Given the description of an element on the screen output the (x, y) to click on. 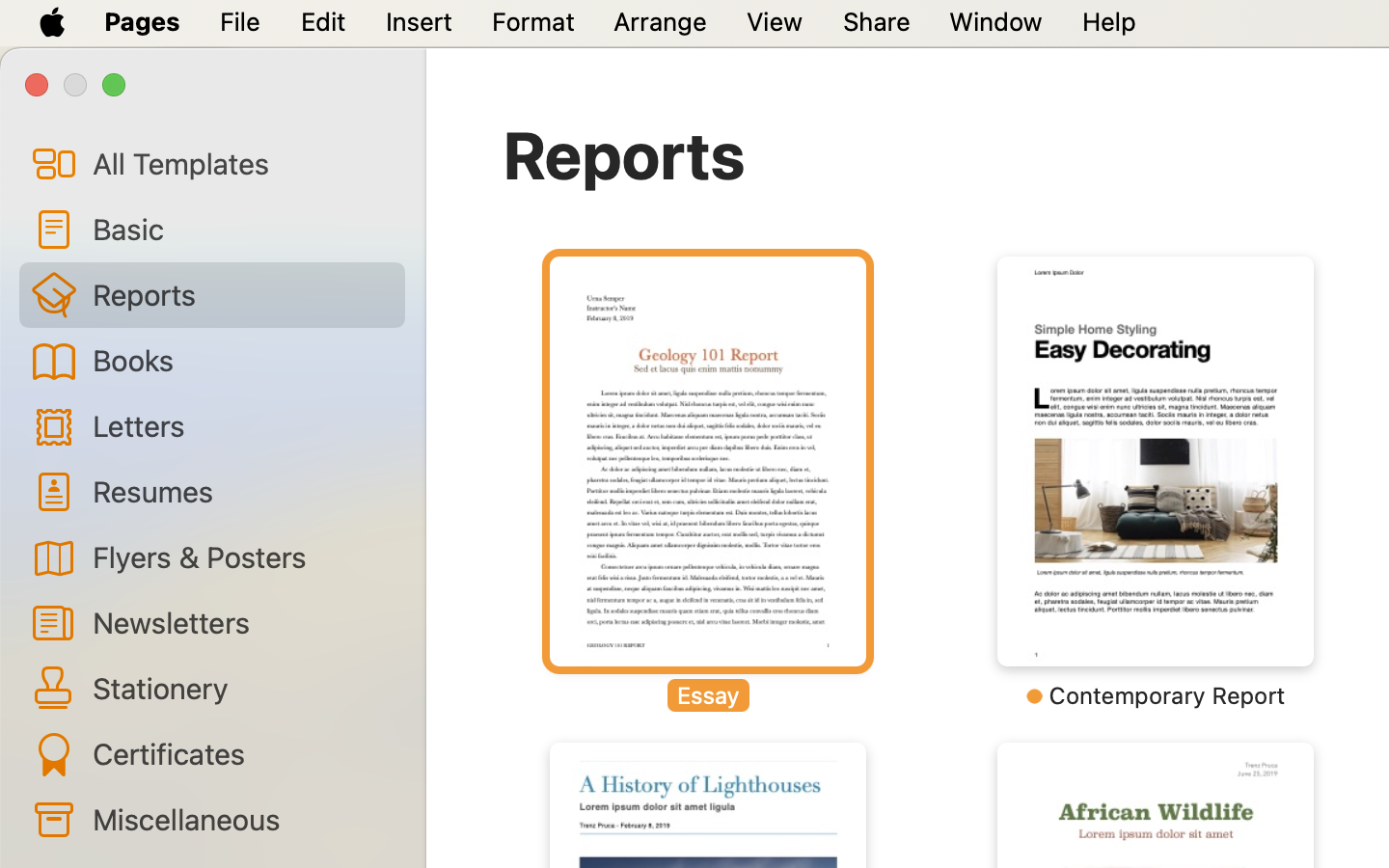
Letters Element type: AXStaticText (240, 424)
‎⁨Essay⁩ Element type: AXButton (707, 483)
Newsletters Element type: AXStaticText (240, 621)
